Given the description of an element on the screen output the (x, y) to click on. 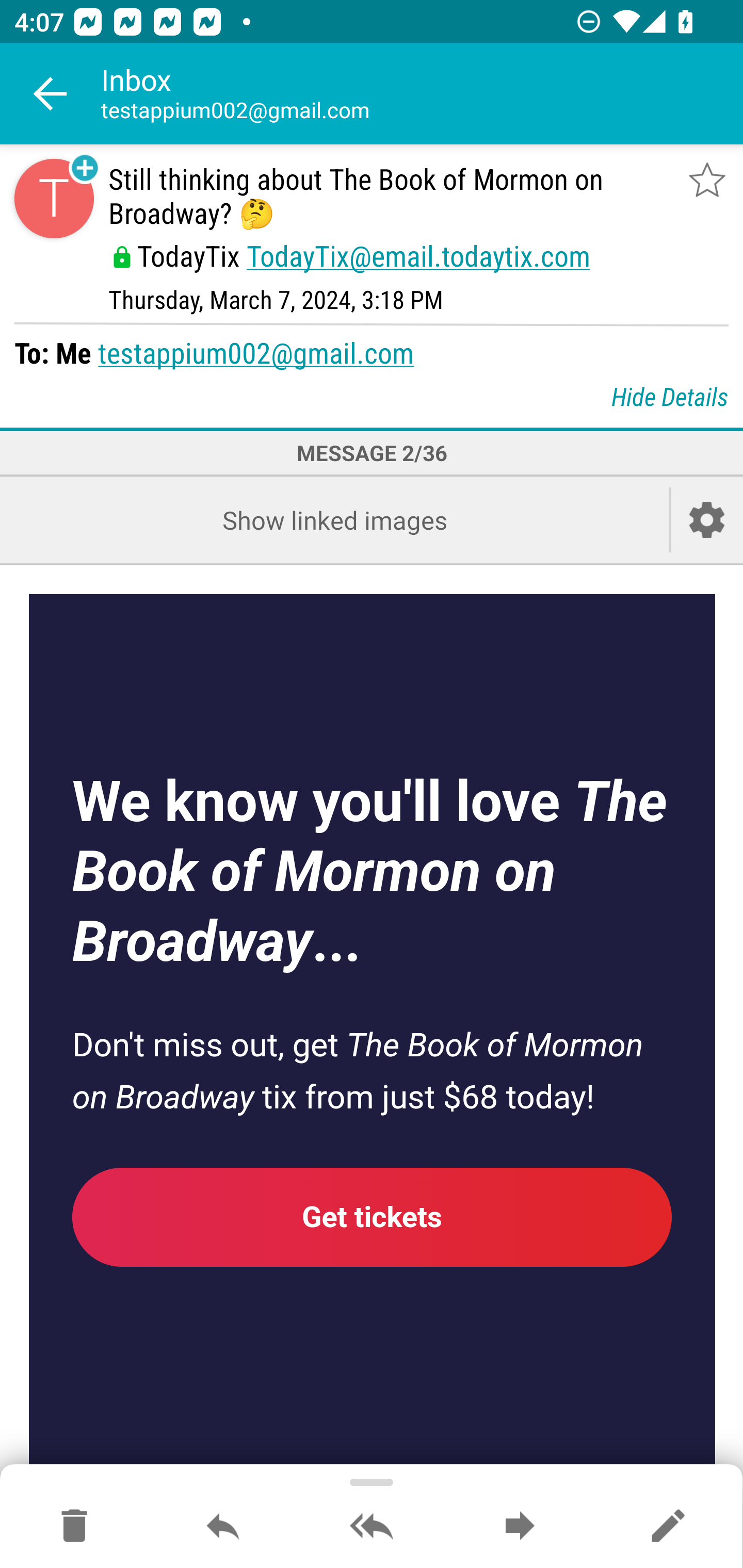
Navigate up (50, 93)
Inbox testappium002@gmail.com (422, 93)
Sender contact button (53, 198)
Show linked images (334, 519)
Account setup (706, 519)
Get tickets (372, 1216)
Move to Deleted (74, 1527)
Reply (222, 1527)
Reply all (371, 1527)
Forward (519, 1527)
Reply as new (667, 1527)
